Given the description of an element on the screen output the (x, y) to click on. 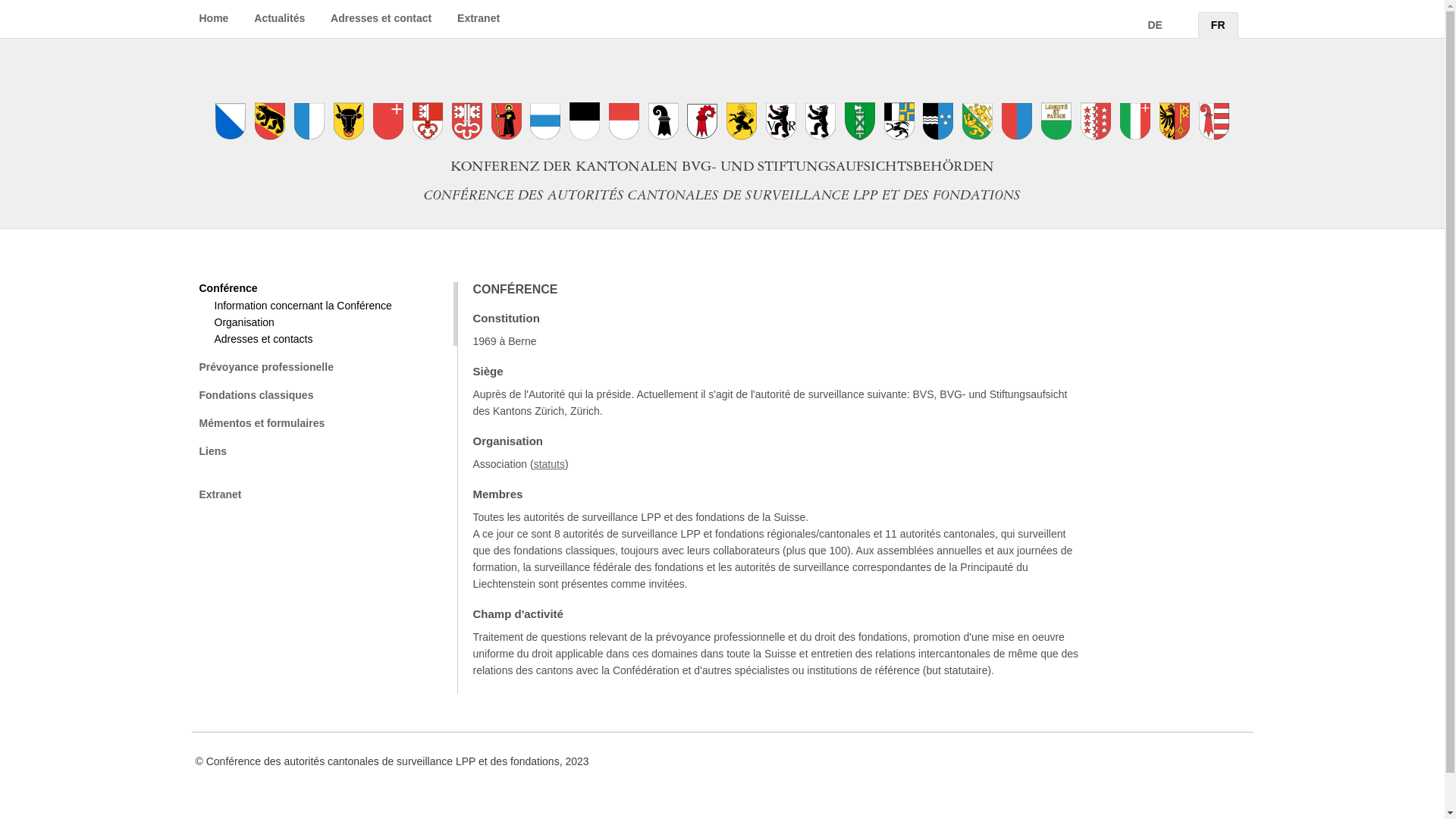
Adresses et contact Element type: text (380, 18)
DE Element type: text (1154, 25)
Home Element type: text (213, 18)
FR Element type: text (1218, 25)
Adresses et contacts Element type: text (332, 338)
statuts Element type: text (548, 464)
Organisation Element type: text (332, 322)
Liens Element type: text (325, 451)
Extranet Element type: text (478, 18)
Extranet Element type: text (325, 494)
Fondations classiques Element type: text (325, 395)
